Given the description of an element on the screen output the (x, y) to click on. 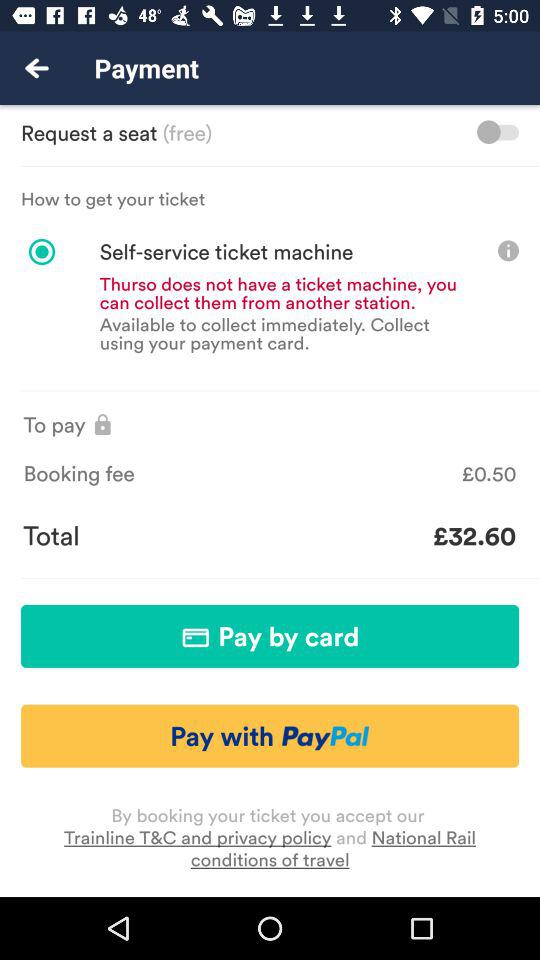
request toggle option (497, 132)
